Given the description of an element on the screen output the (x, y) to click on. 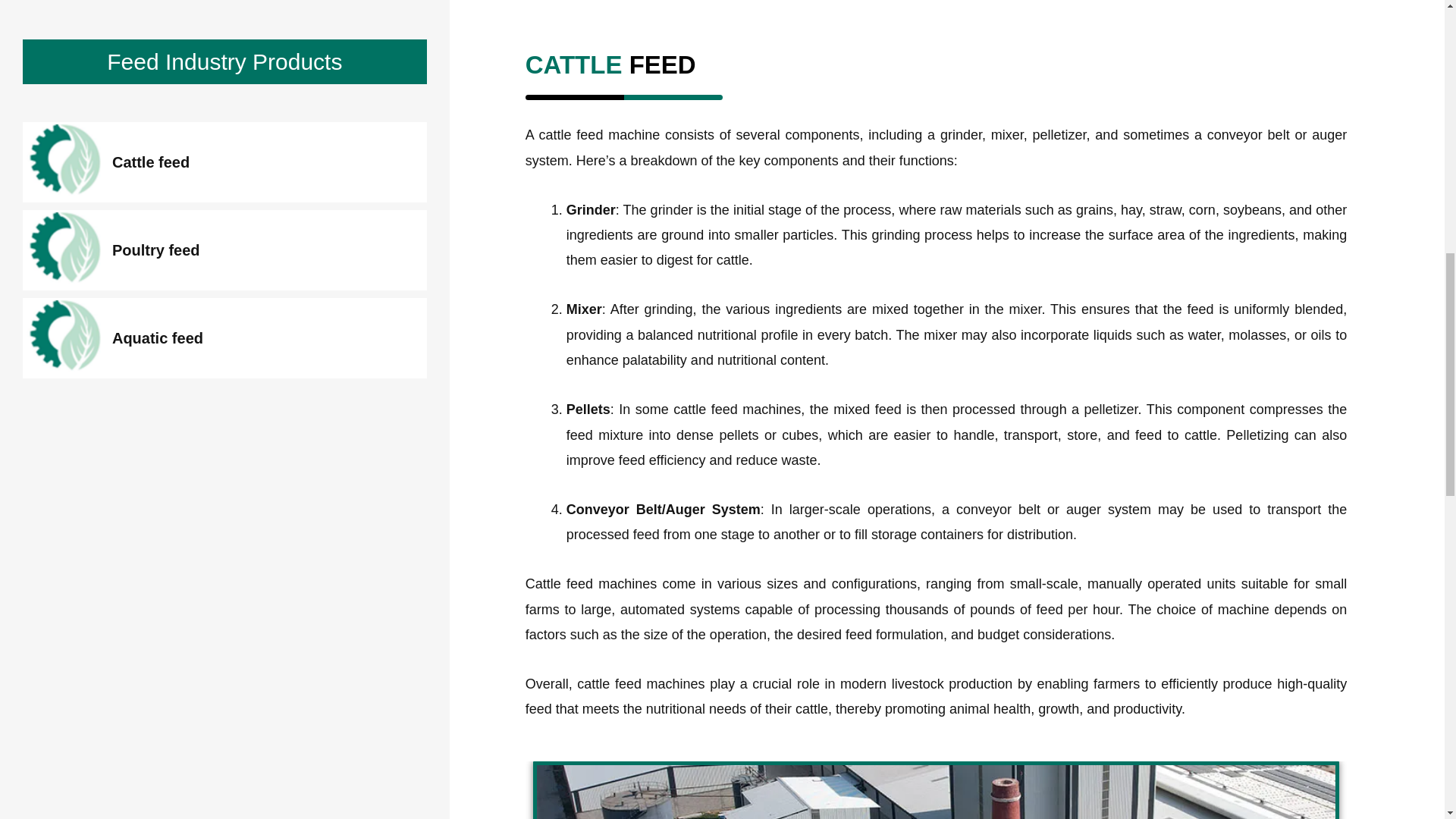
Cattle Feed Plant (936, 791)
